Given the description of an element on the screen output the (x, y) to click on. 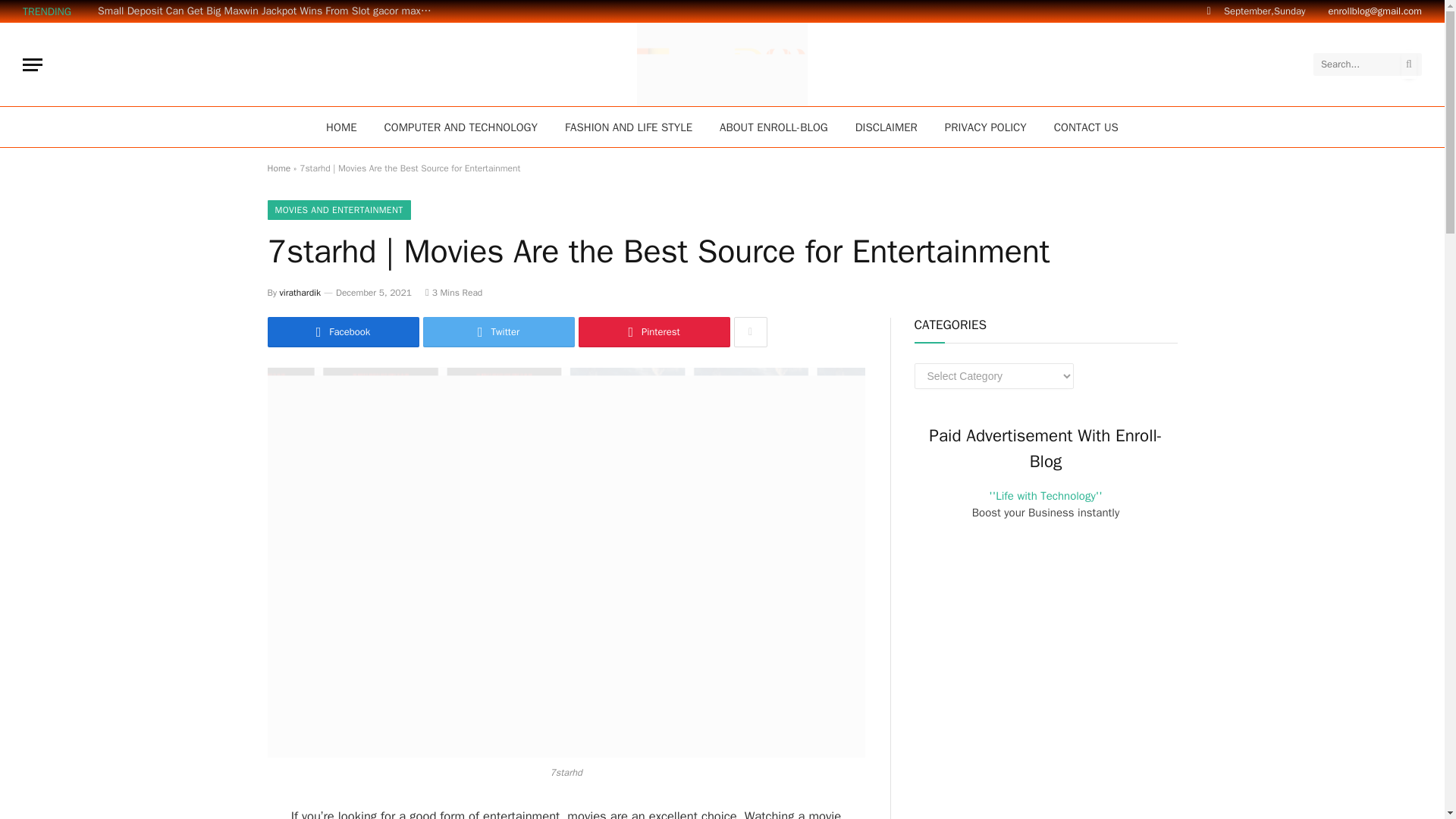
Switch to Dark Design - easier on eyes. (1208, 10)
Share on Facebook (342, 331)
HOME (341, 127)
COMPUTER AND TECHNOLOGY (461, 127)
Enroll Blog (722, 64)
Share on Twitter (499, 331)
FASHION AND LIFE STYLE (628, 127)
Posts by virathardik (299, 292)
